Given the description of an element on the screen output the (x, y) to click on. 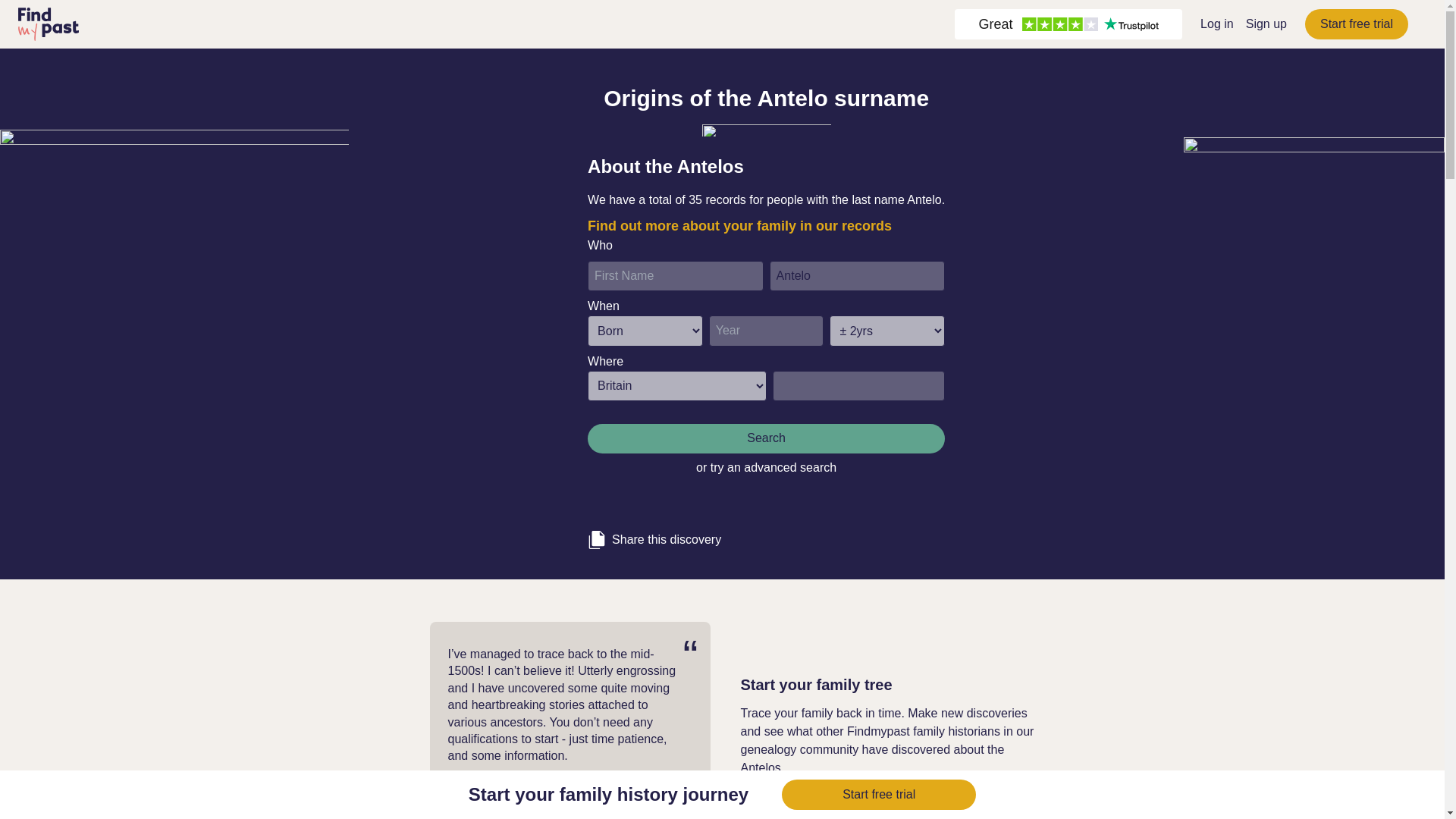
Sign up (1266, 23)
Log in (1216, 23)
Start free trial (1355, 24)
advanced search (789, 467)
Share this discovery (766, 533)
Search (766, 438)
Antelo (857, 276)
Customer reviews powered by Trustpilot (1068, 23)
Start free trial (878, 794)
Sign up to get started (803, 801)
